Given the description of an element on the screen output the (x, y) to click on. 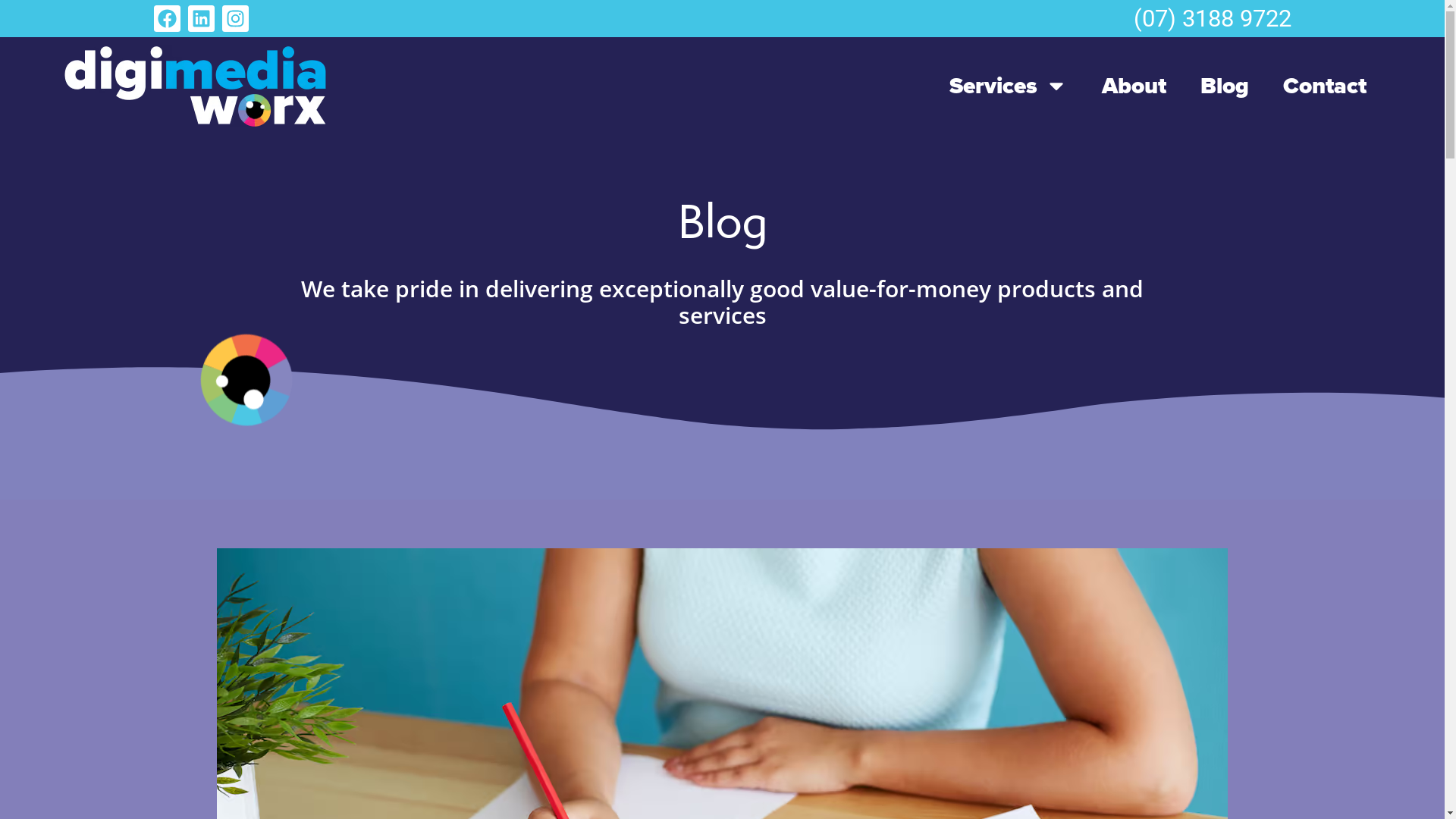
Blog Element type: text (1224, 85)
DMW_HorizontalLogo_WebsiteUse_TransparentBackground_v4 Element type: hover (194, 85)
 (07) 3188 9722 Element type: text (1208, 18)
About Element type: text (1133, 85)
Contact Element type: text (1324, 85)
Services Element type: text (1008, 85)
